Given the description of an element on the screen output the (x, y) to click on. 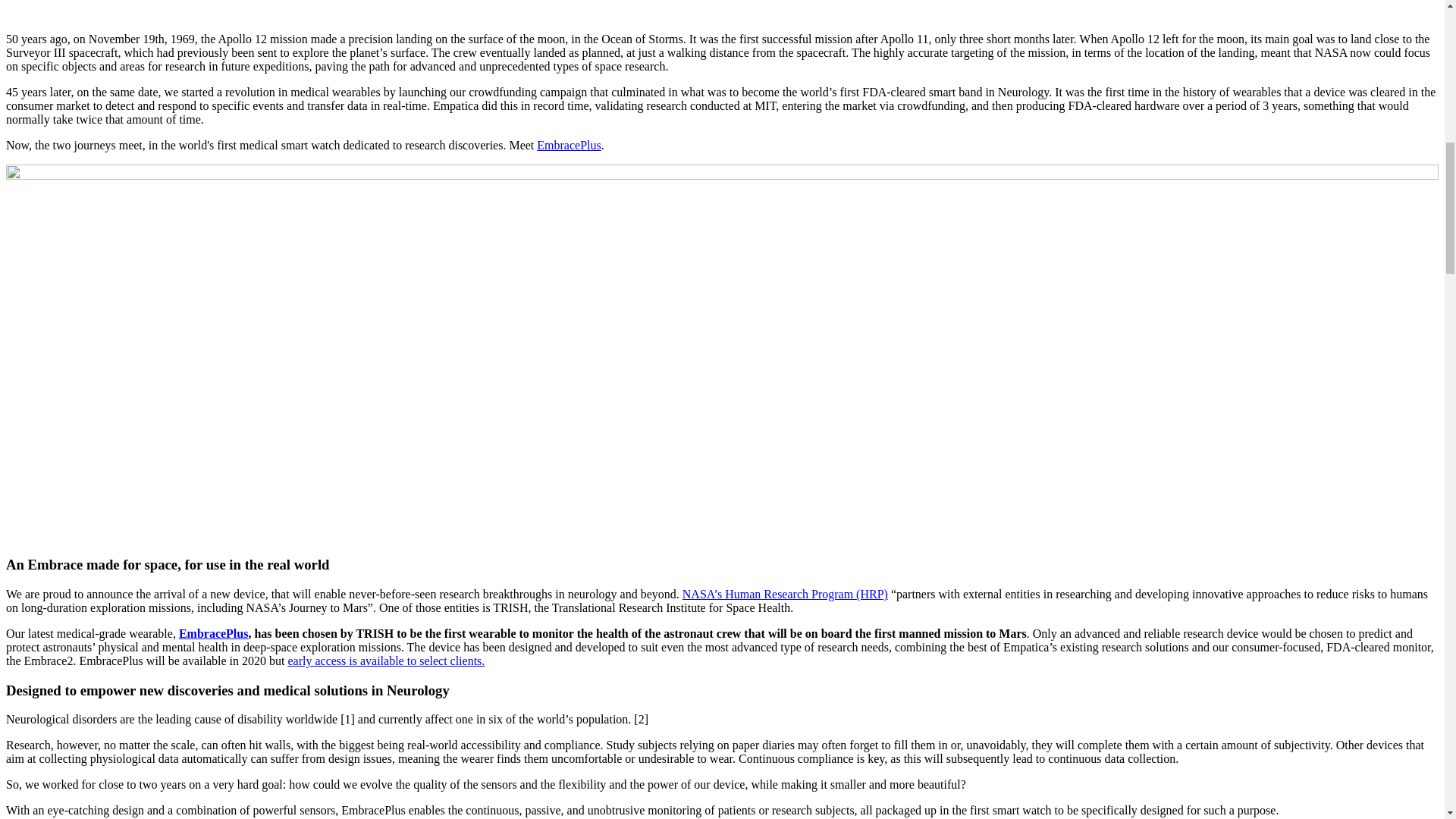
EmbracePlus (213, 633)
early access is available to select clients. (385, 660)
EmbracePlus (568, 144)
